Given the description of an element on the screen output the (x, y) to click on. 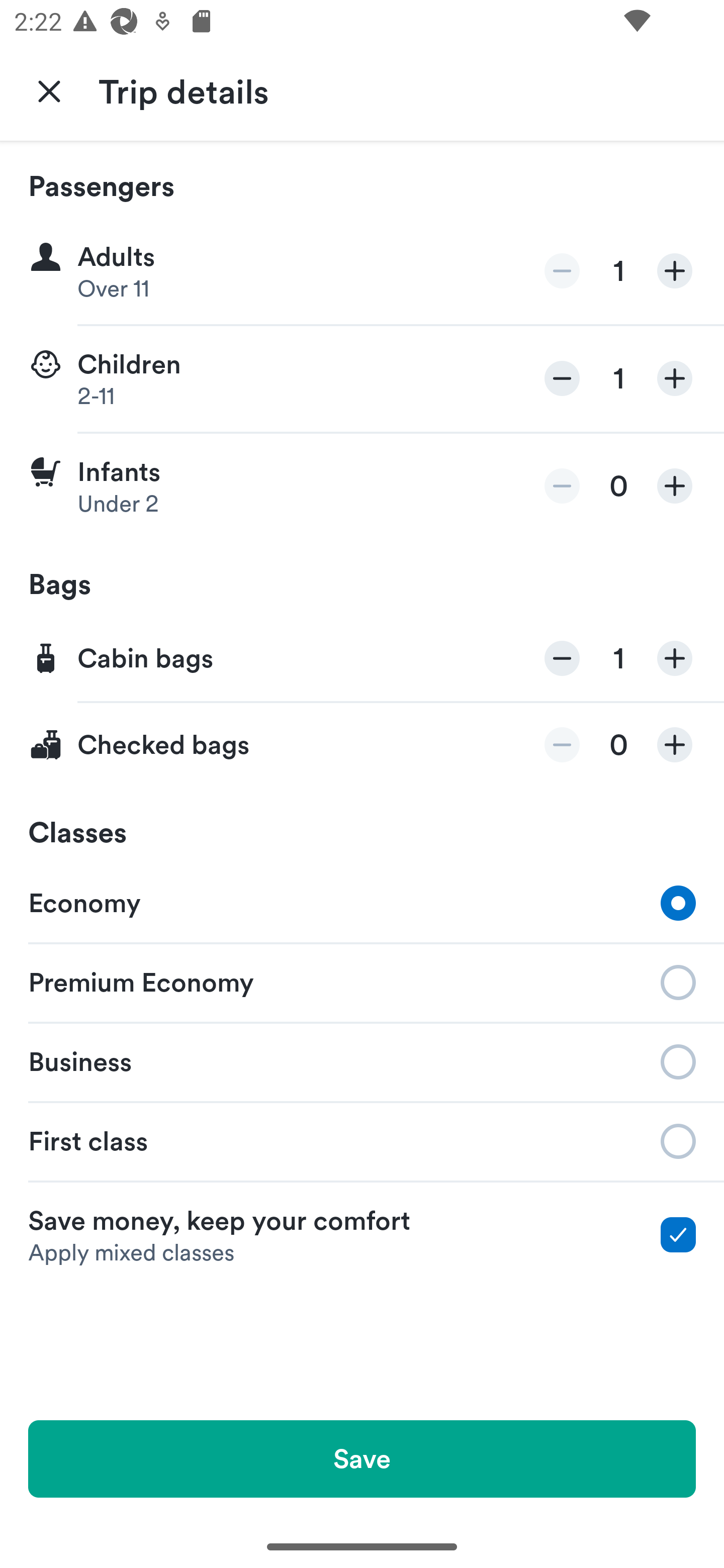
Navigate up (49, 90)
Remove 1 Add Adults Over 11 (362, 271)
Remove (561, 270)
Add (674, 270)
Remove 1 Add Children 2-11 (362, 379)
Remove (561, 377)
Add (674, 377)
Remove 0 Add Infants Under 2 (362, 485)
Remove (561, 485)
Add (674, 485)
Remove 1 Add Cabin bags (362, 659)
Remove (561, 658)
Add (674, 658)
Remove 0 Add Checked bags (362, 744)
Remove (561, 744)
Add (674, 744)
Premium Economy (362, 980)
Business (362, 1060)
First class (362, 1141)
Save (361, 1458)
